Given the description of an element on the screen output the (x, y) to click on. 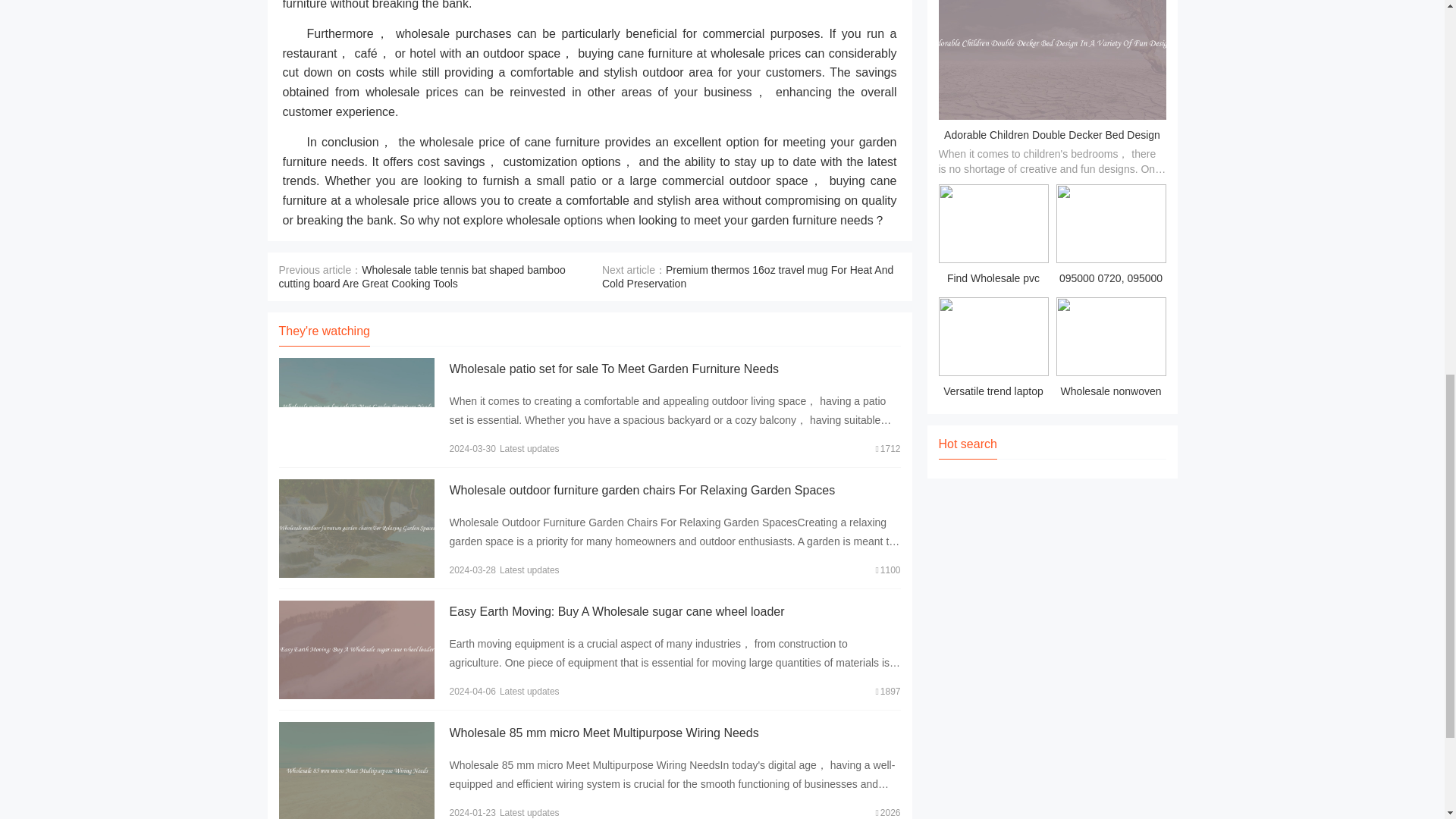
Versatile trend laptop briefcase In Fancy Designs (993, 349)
Wholesale patio set for sale To Meet Garden Furniture Needs (613, 368)
Wholesale nonwoven screen printers For Your Business (1110, 349)
Wholesale 85 mm micro Meet Multipurpose Wiring Needs (603, 732)
Easy Earth Moving: Buy A Wholesale sugar cane wheel loader (616, 611)
095000 0720, 095000 0720 Suppliers and Manufacturers (1110, 236)
